Given the description of an element on the screen output the (x, y) to click on. 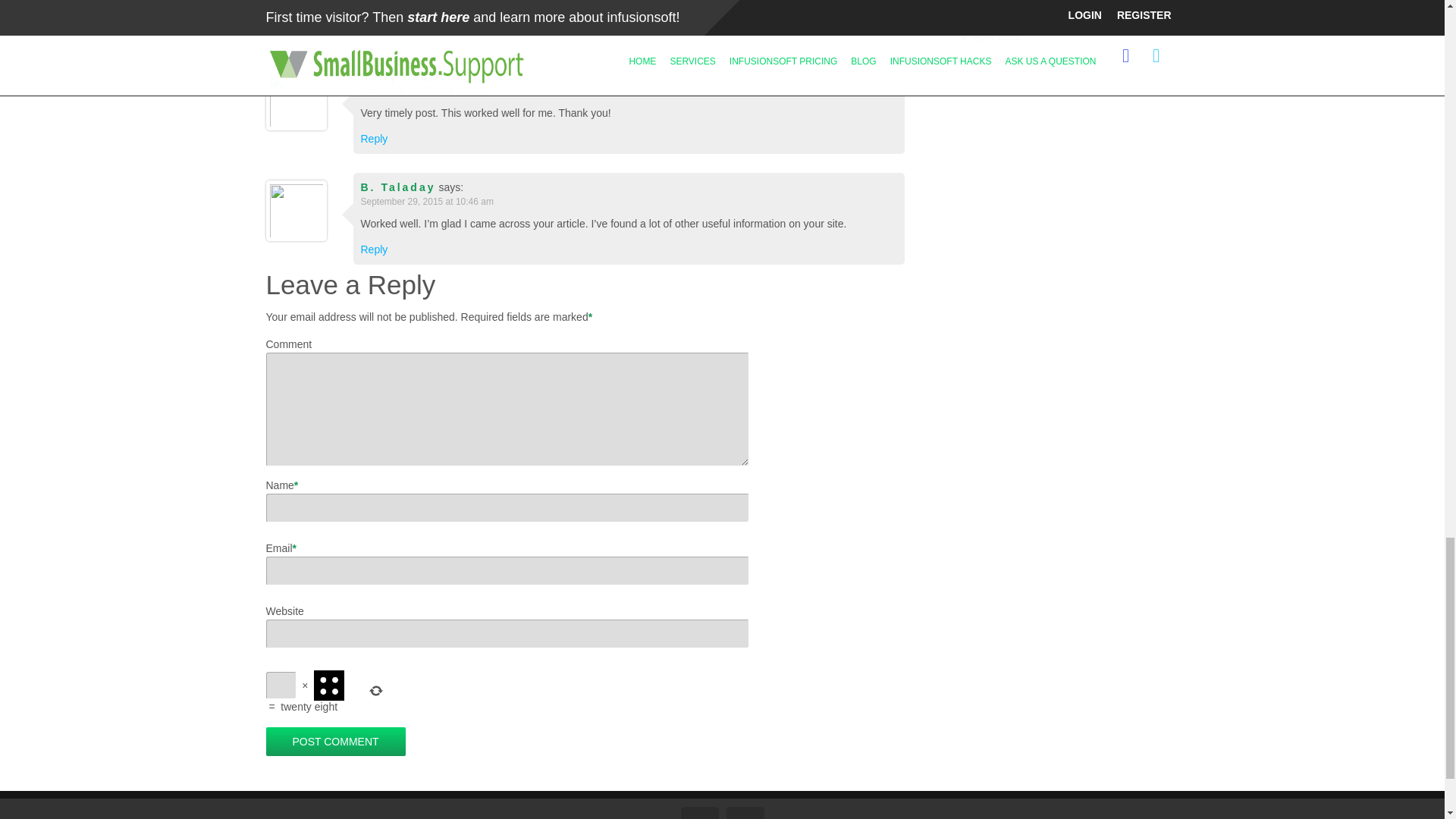
September 25, 2015 at 5:23 pm (425, 94)
Reply (374, 249)
Post Comment (334, 741)
Reply (374, 138)
Reply (374, 28)
Post Comment (334, 741)
September 29, 2015 at 10:46 am (427, 205)
